Given the description of an element on the screen output the (x, y) to click on. 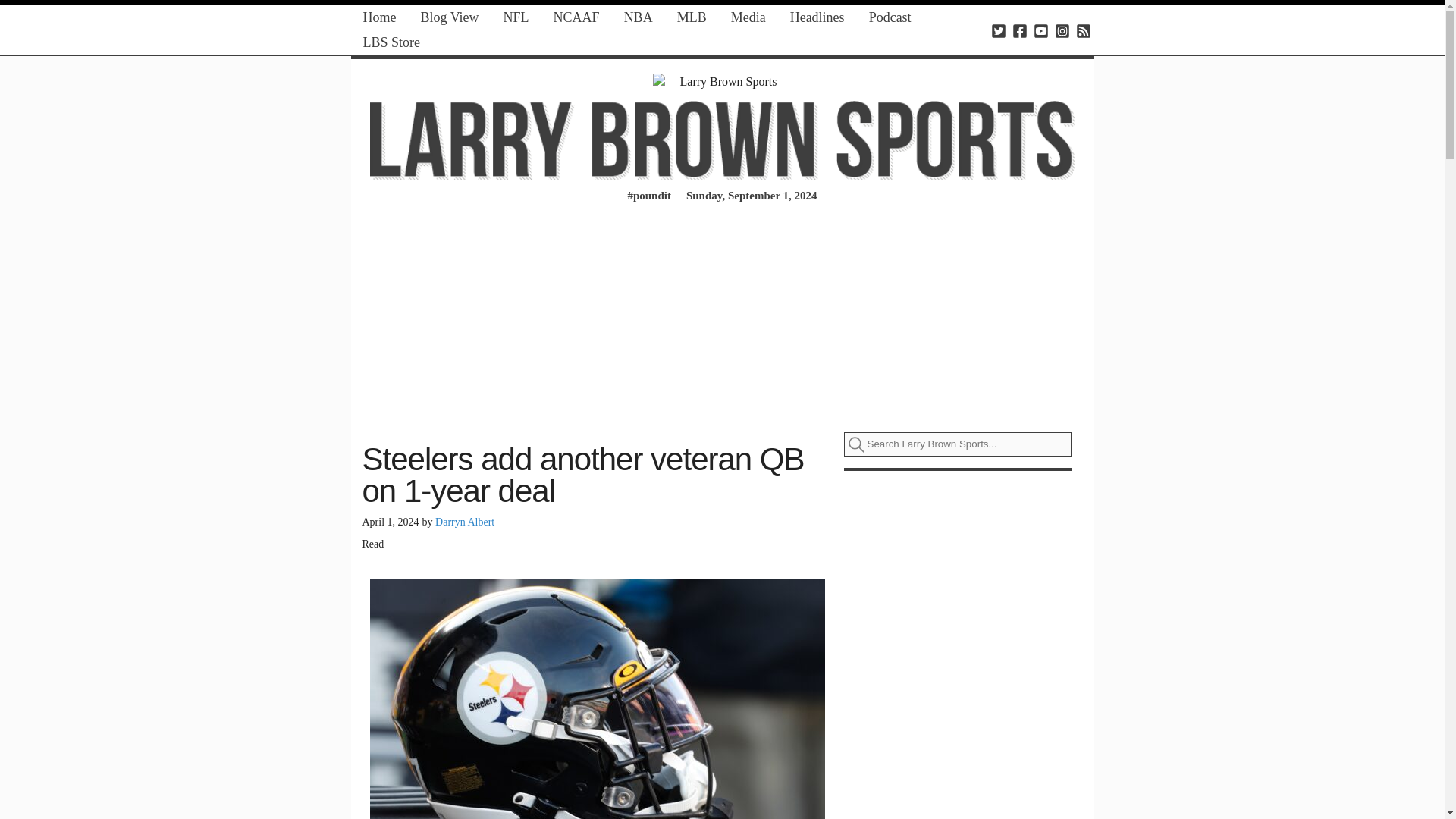
Subscribe to Larry Brown Sports RSS Feed (1082, 29)
Headlines (817, 17)
Home (378, 17)
View Larry Brown Sports Facebook (1018, 29)
Podcast (890, 17)
Blog View (448, 17)
View Larry Brown Sports Twitter (998, 29)
LBS Store (391, 42)
View Larry Brown Sports Instagram (1061, 29)
NCAAF (576, 17)
